Given the description of an element on the screen output the (x, y) to click on. 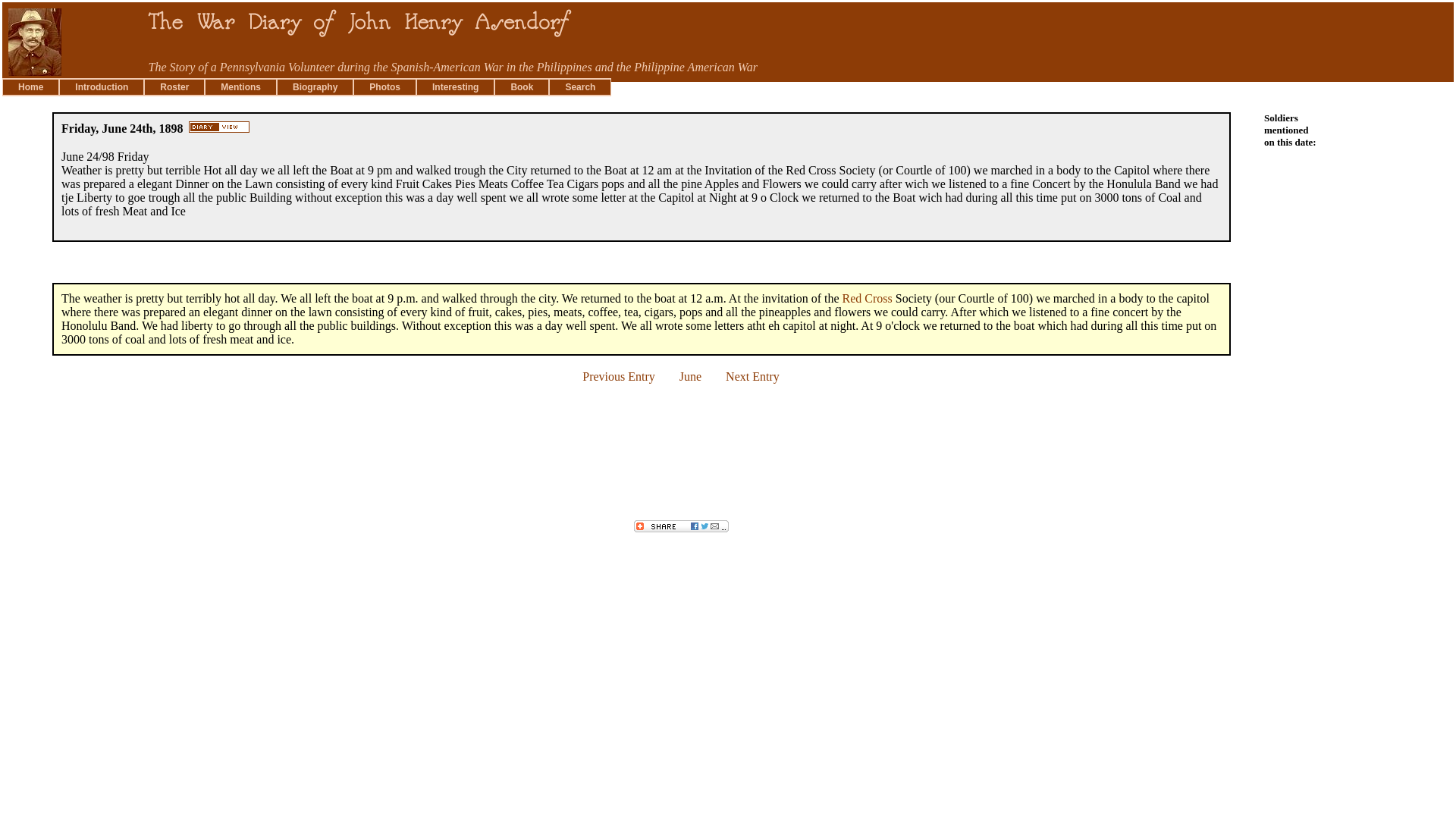
Previous Entry (618, 376)
Biography (314, 86)
Mentions (240, 86)
Photos (384, 86)
June (690, 376)
Introduction (101, 86)
Roster (174, 86)
Next Entry (751, 376)
Home (30, 86)
Interesting (455, 86)
Search (579, 86)
Book (521, 86)
Red Cross (867, 297)
